Given the description of an element on the screen output the (x, y) to click on. 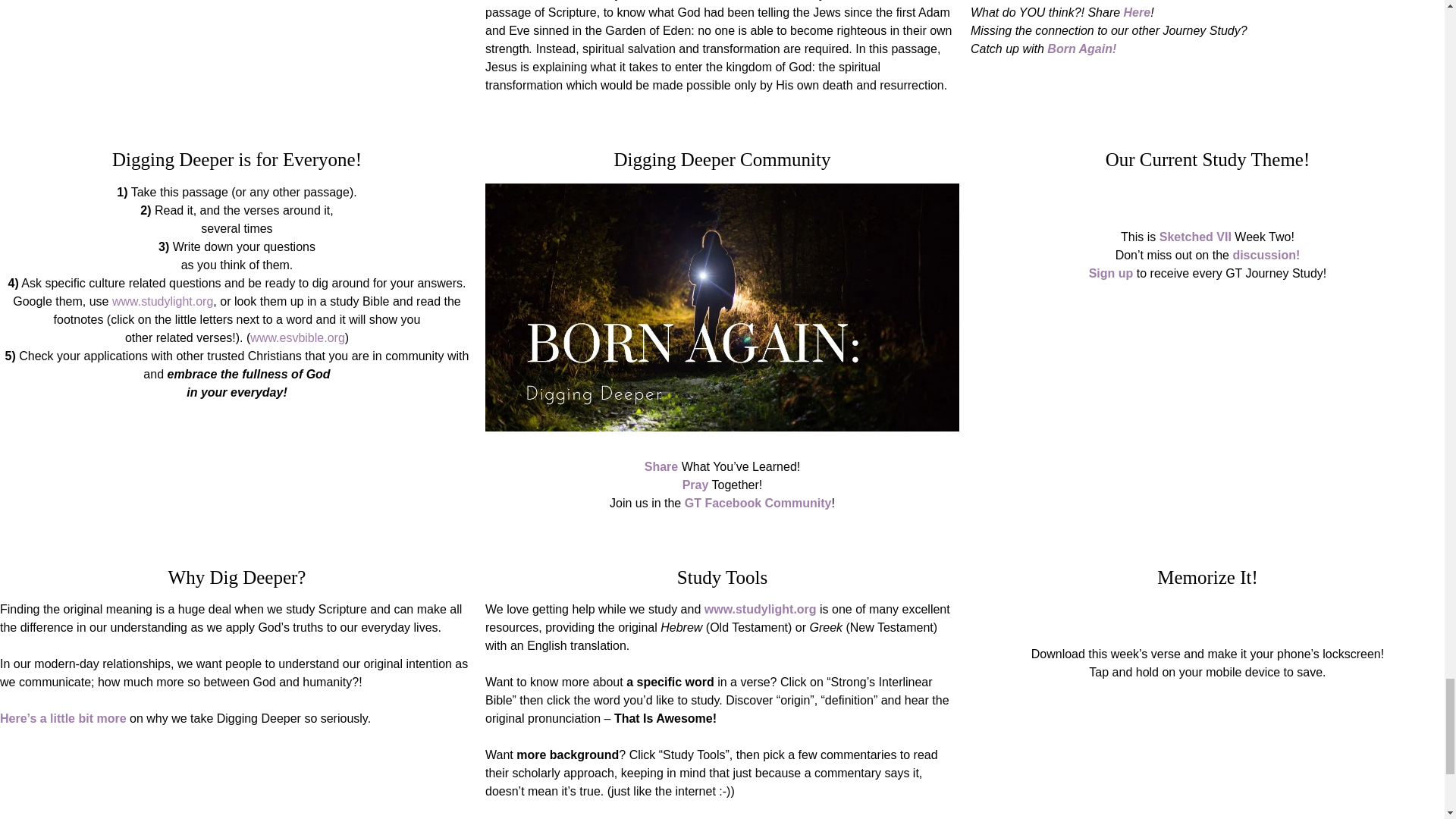
Sketched 7 Day 9 (721, 307)
